Given the description of an element on the screen output the (x, y) to click on. 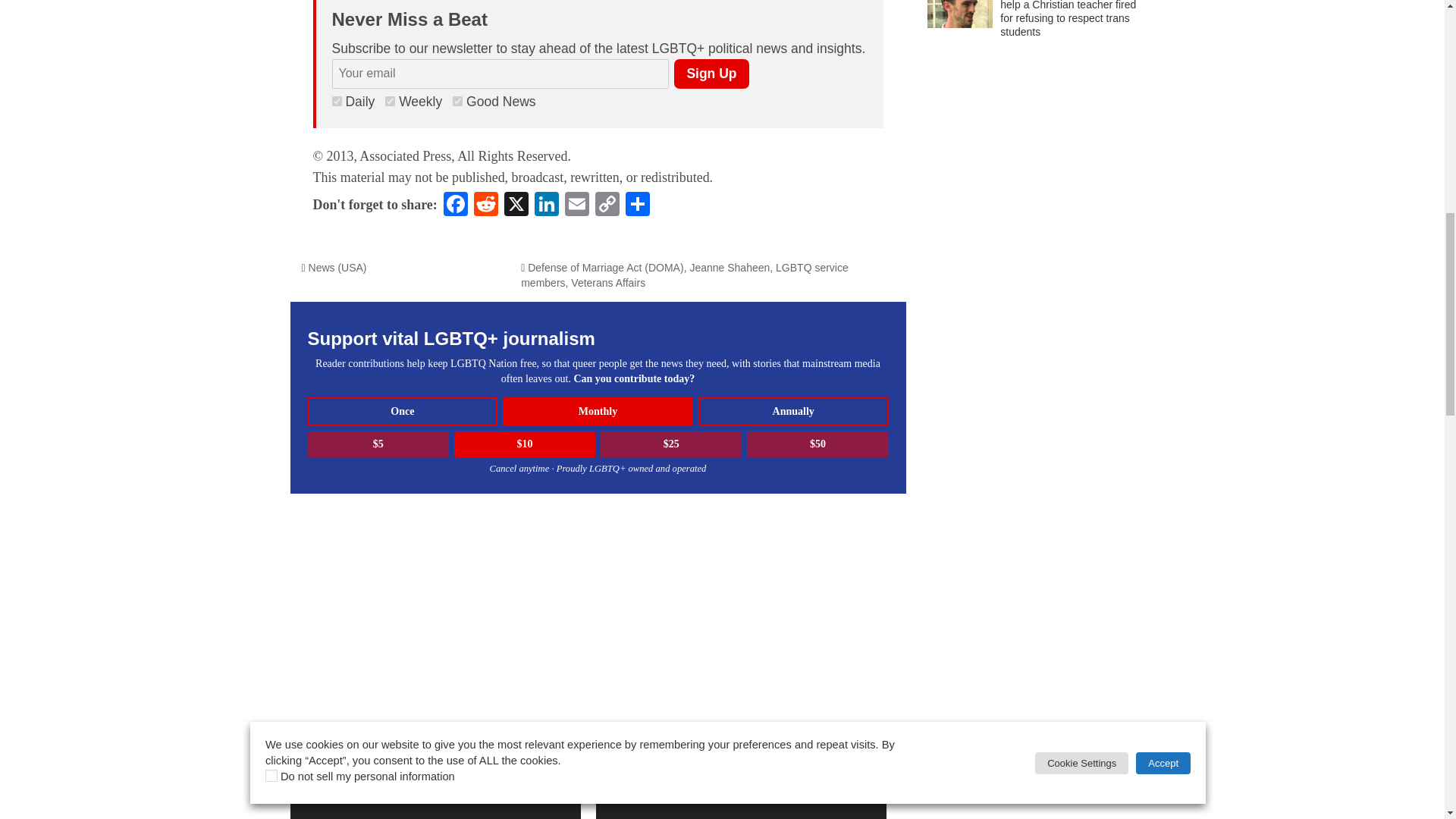
1920885 (336, 101)
Copy Link (607, 205)
1920883 (457, 101)
Copy Link (607, 205)
LinkedIn (546, 205)
1920884 (389, 101)
Reddit (485, 205)
Sign Up (711, 73)
Facebook (455, 205)
LinkedIn (546, 205)
Email (577, 205)
Share (637, 205)
X (515, 205)
Facebook (455, 205)
Email (577, 205)
